Given the description of an element on the screen output the (x, y) to click on. 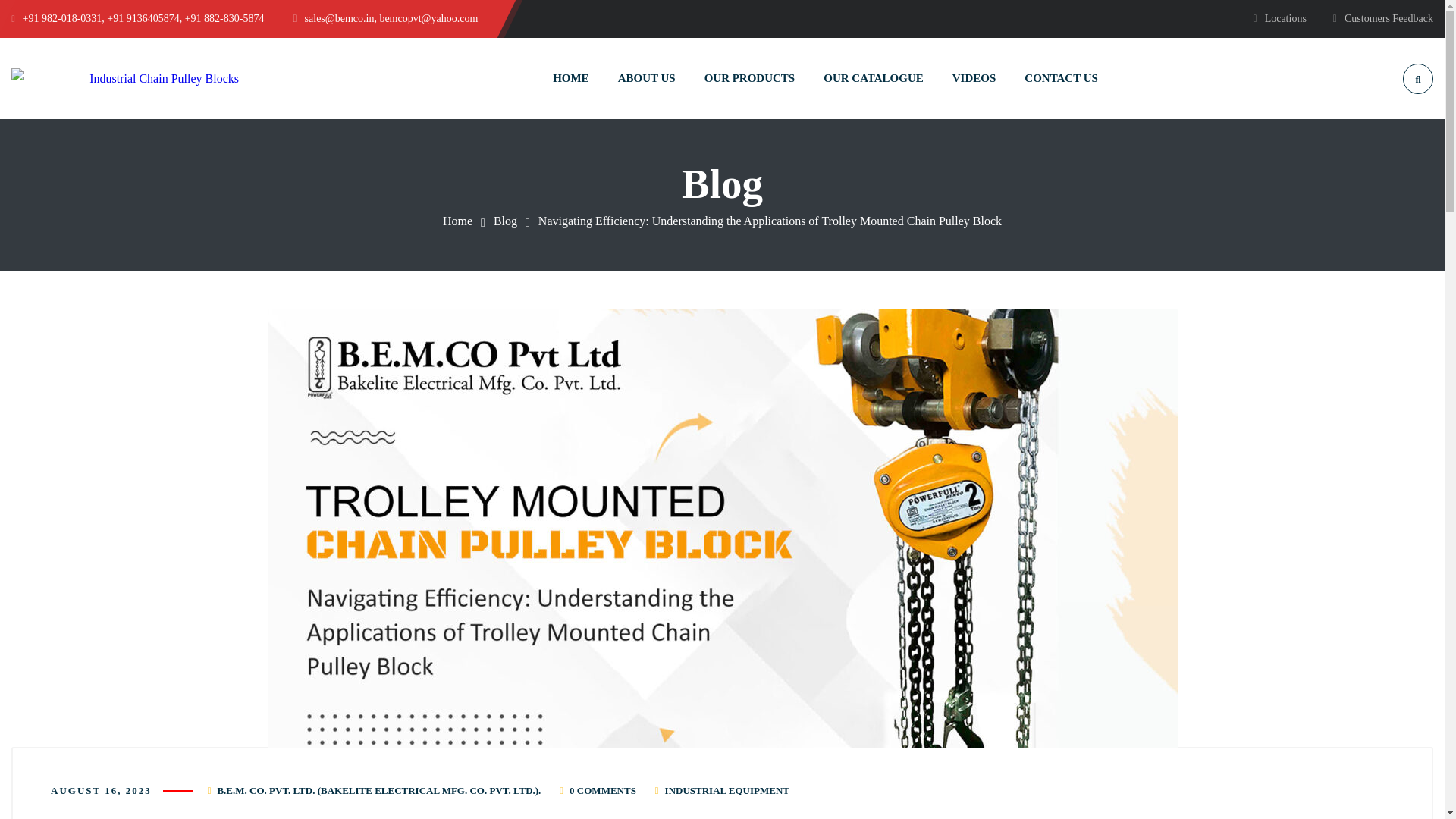
Blog (504, 220)
INDUSTRIAL EQUIPMENT (727, 790)
Customers Feedback (1382, 18)
Home (456, 220)
Locations (1279, 18)
Industrial Chain Pulley Blocks (456, 220)
Blog (504, 220)
OUR CATALOGUE (873, 77)
Industrial Chain Pulley Blocks (124, 77)
OUR PRODUCTS (749, 77)
